Given the description of an element on the screen output the (x, y) to click on. 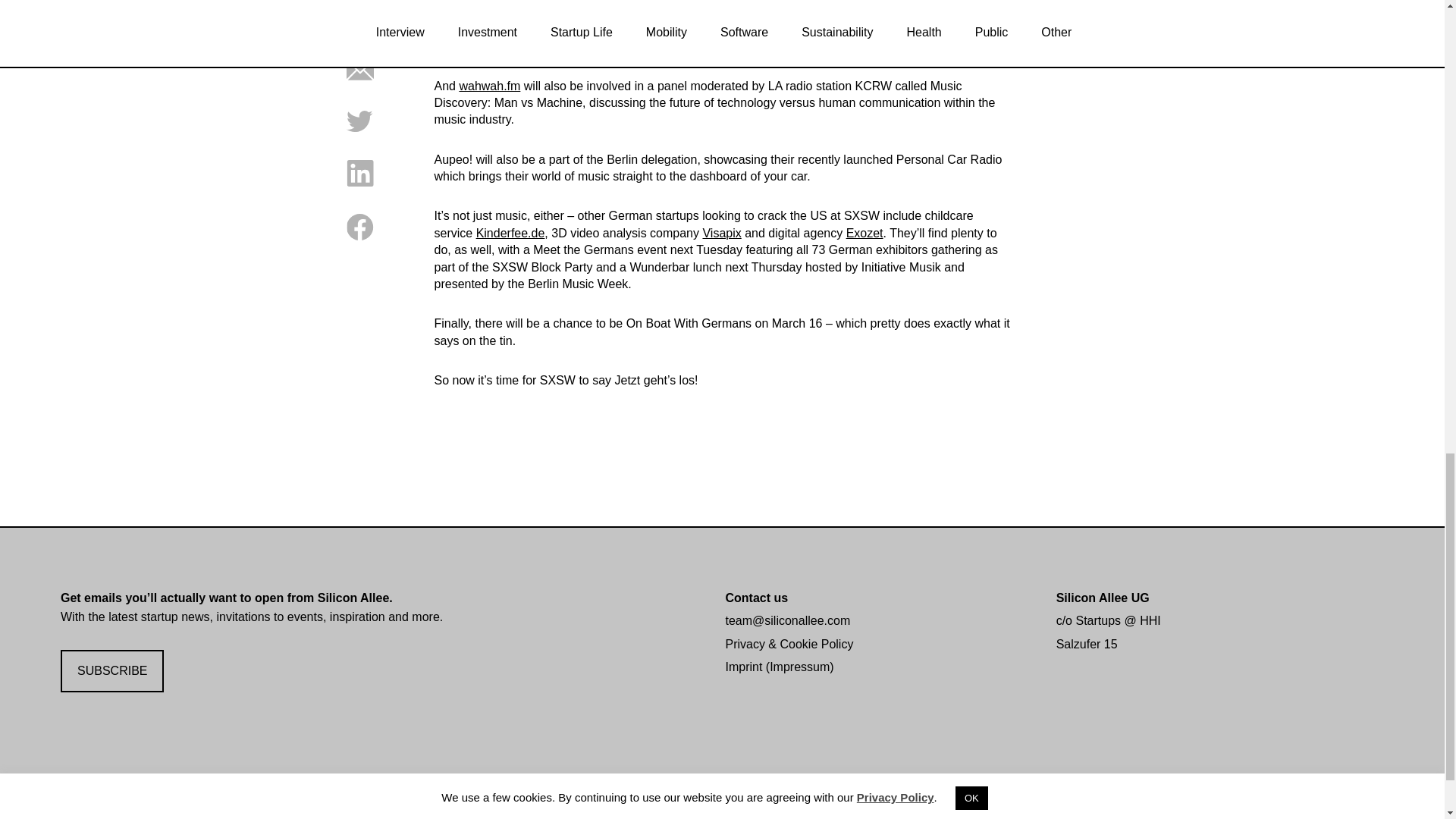
wahwah.fm (768, 0)
Visapix (721, 232)
Aupeo! (845, 0)
SUBSCRIBE (112, 671)
wahwah.fm (488, 85)
Exozet (864, 232)
Salzufer 15 (1087, 644)
Kinderfee.de (510, 232)
Contact us (756, 597)
Silicon Allee UG (1103, 597)
